Given the description of an element on the screen output the (x, y) to click on. 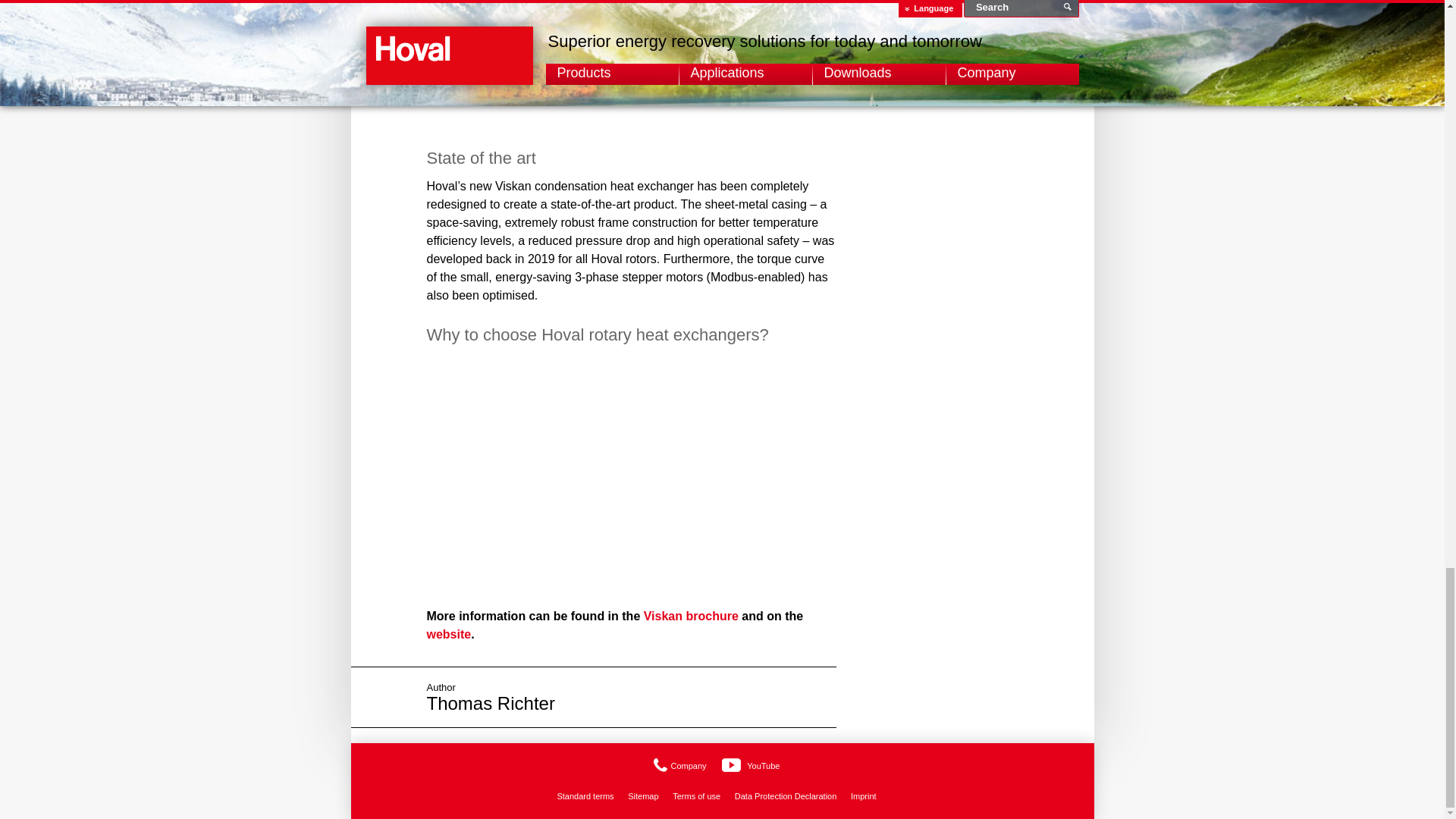
Viskan brochure (690, 615)
YouTube video player (638, 472)
website (448, 634)
